Given the description of an element on the screen output the (x, y) to click on. 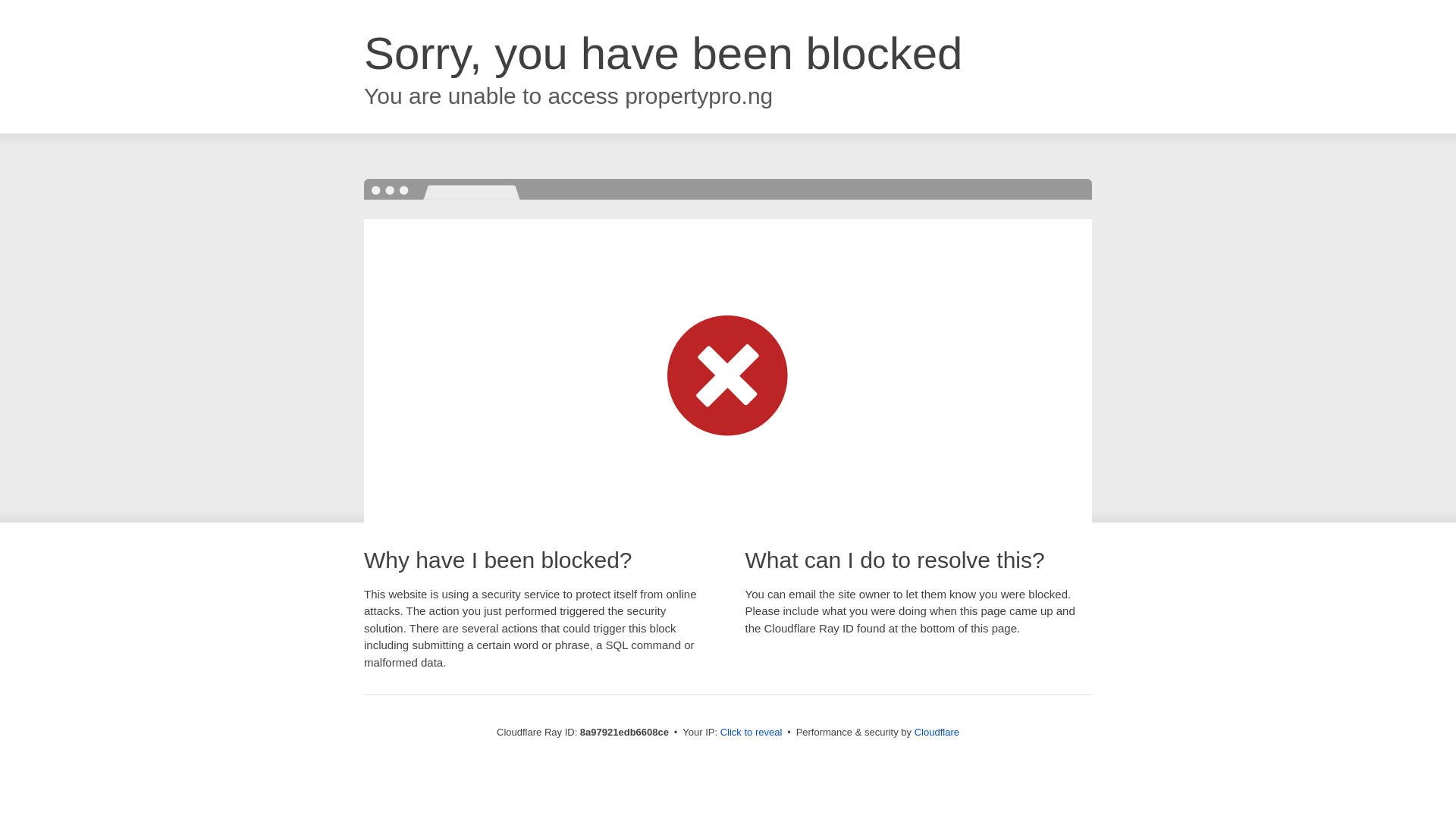
Cloudflare (936, 731)
Click to reveal (751, 732)
